Given the description of an element on the screen output the (x, y) to click on. 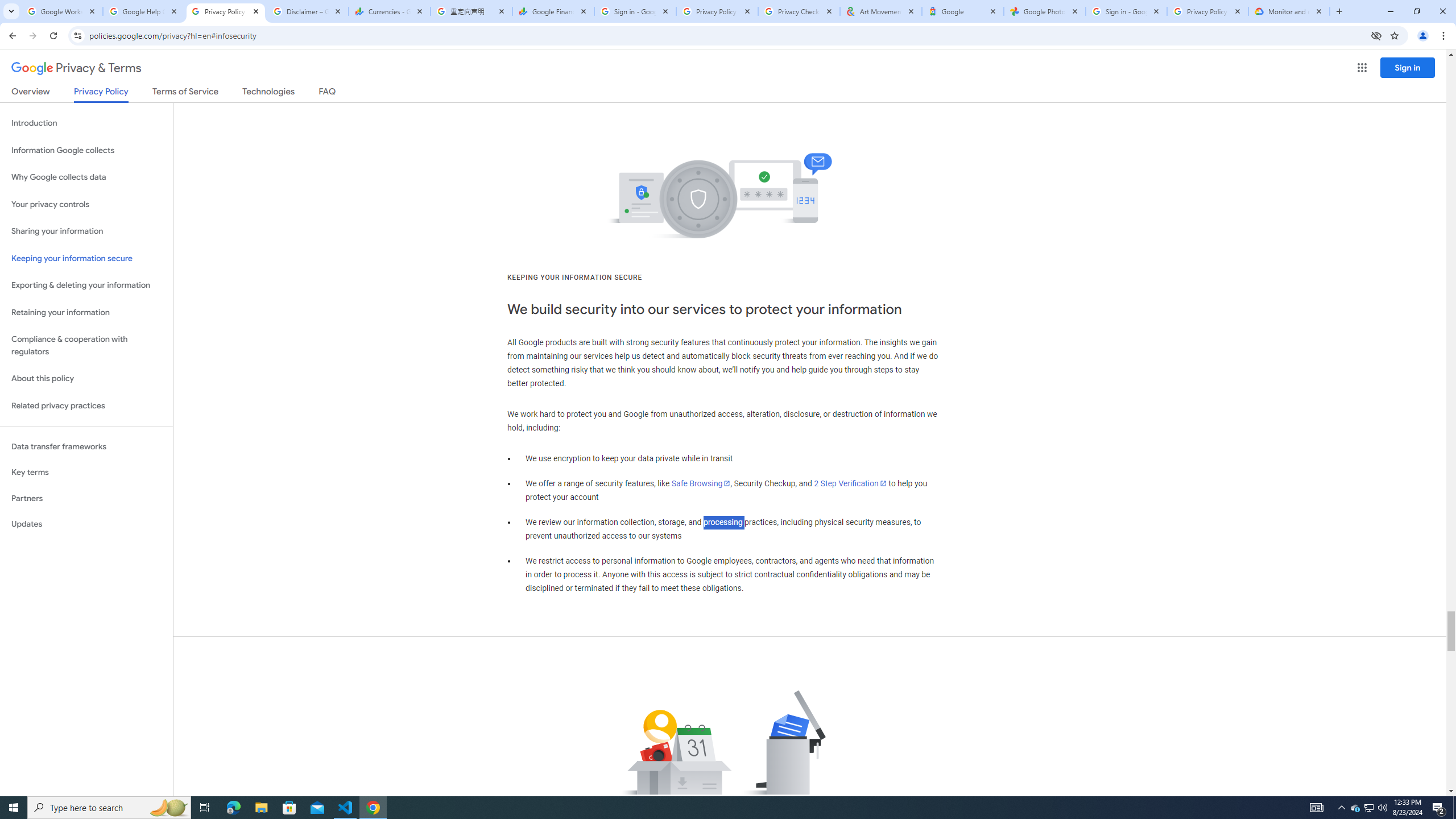
Sign in - Google Accounts (1126, 11)
Google (963, 11)
